Given the description of an element on the screen output the (x, y) to click on. 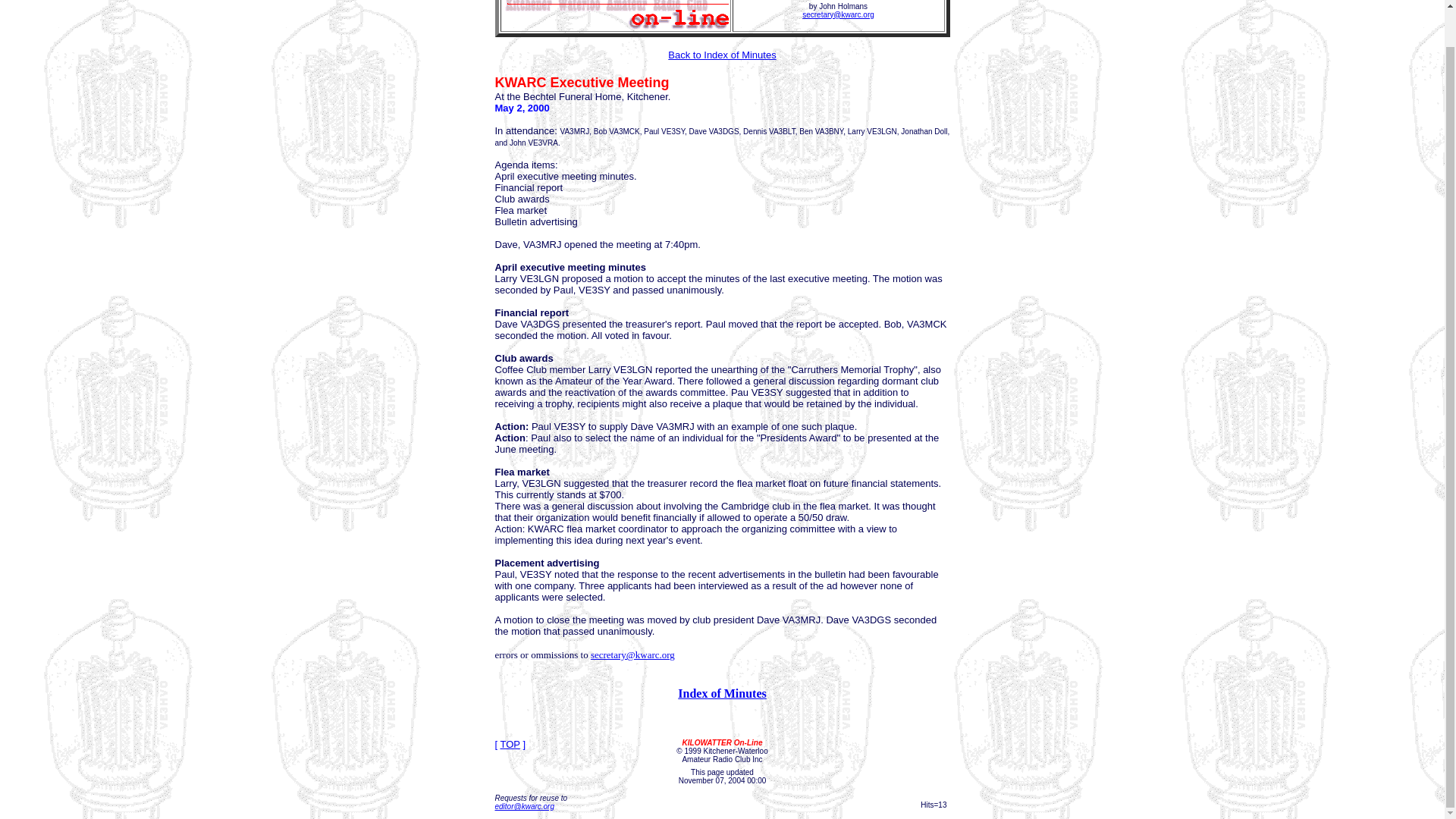
Back to Index of Minutes (722, 53)
Index of Minutes (721, 693)
TOP (509, 744)
